Given the description of an element on the screen output the (x, y) to click on. 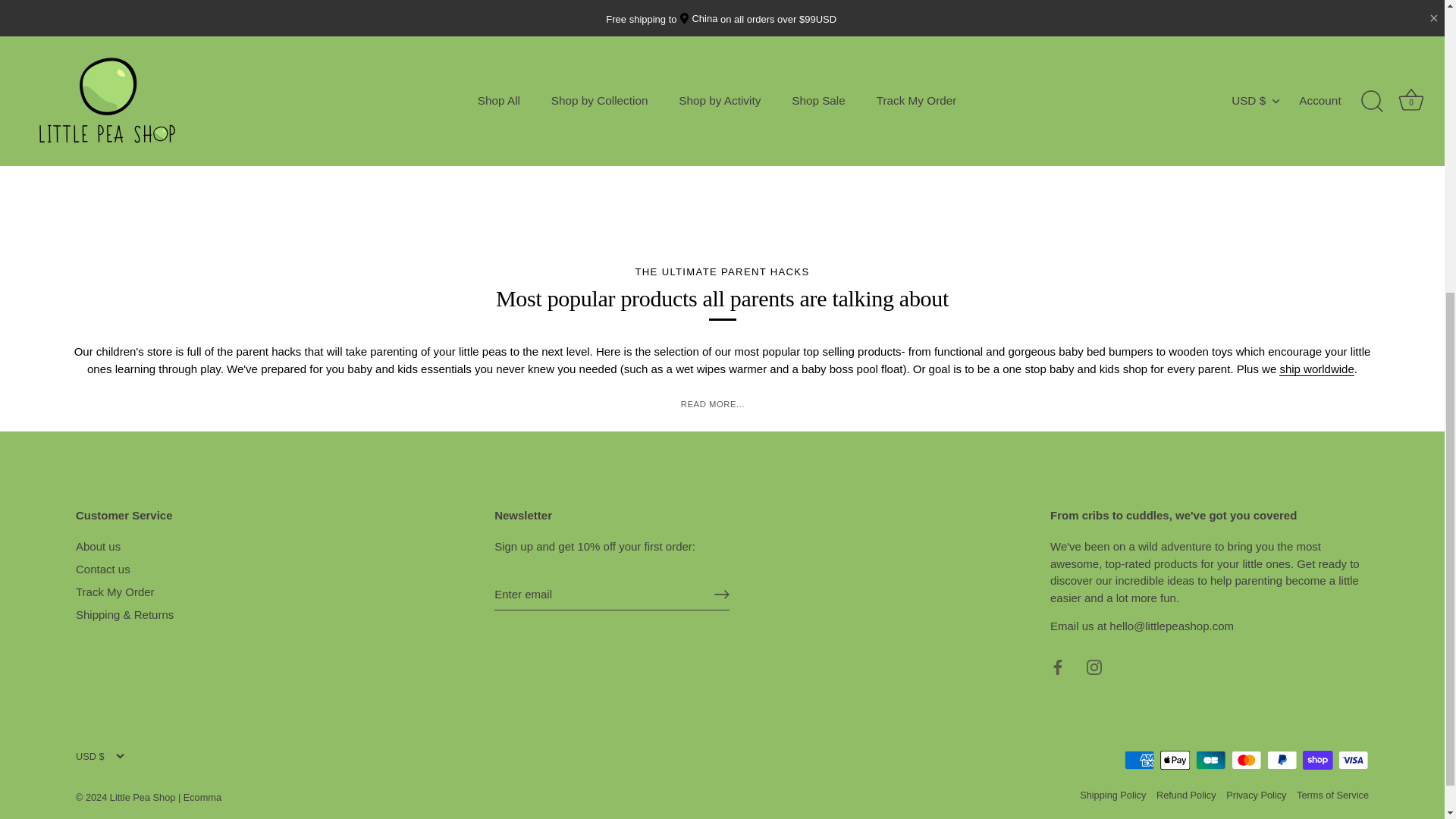
Instagram (1094, 667)
Cartes Bancaires (1210, 760)
Rose and Sage (853, 49)
Apple Pay (1174, 760)
Grey Penguin (610, 49)
RIGHT ARROW LONG (721, 594)
American Express (1139, 760)
Ocean (368, 49)
Mastercard (1245, 760)
Ocean and Mist (887, 49)
Pink Robot (644, 49)
Mist (301, 49)
Email Us (1141, 625)
Blush (335, 49)
Pink Penguin (577, 49)
